Given the description of an element on the screen output the (x, y) to click on. 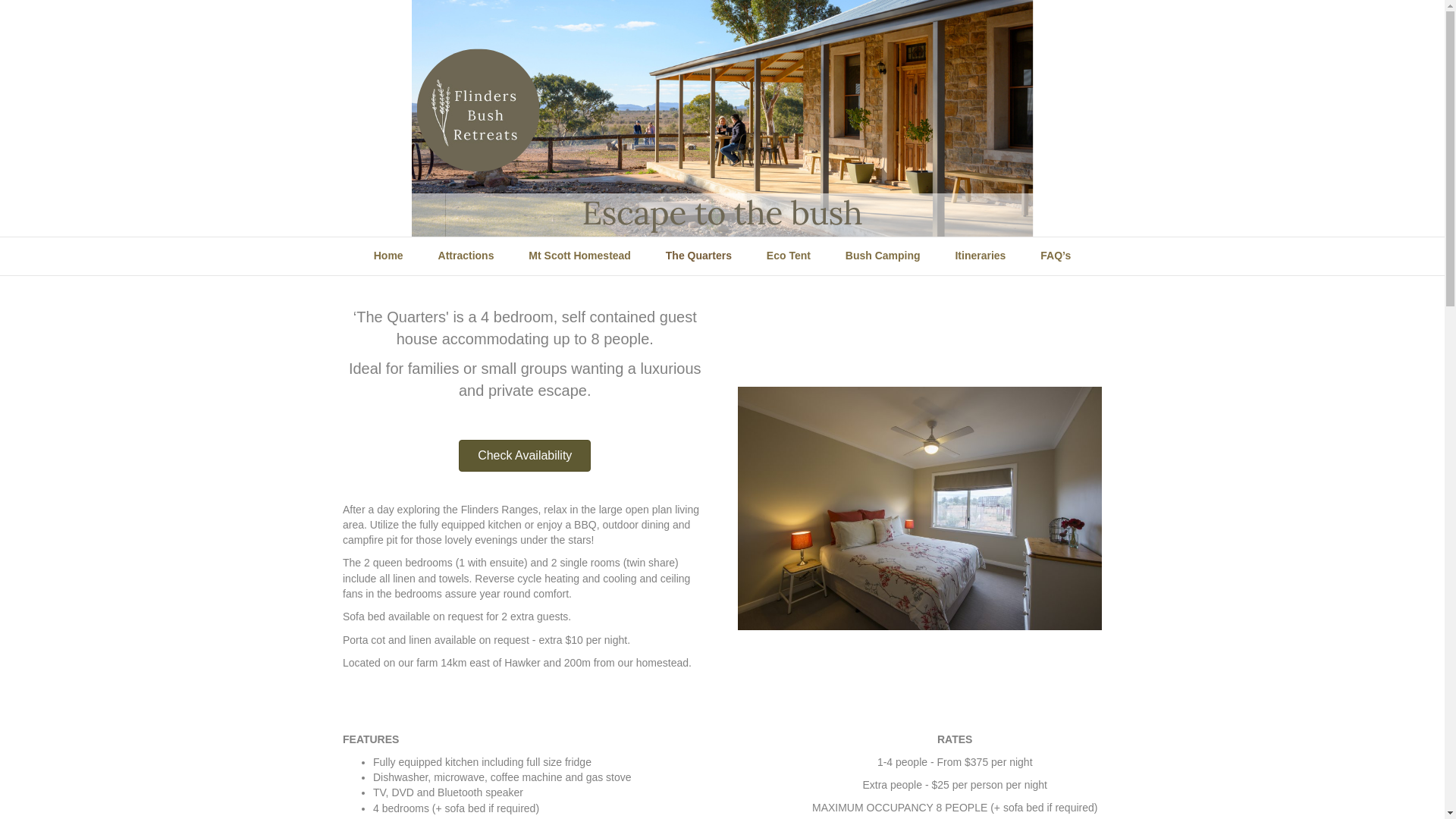
Check Availability Element type: text (524, 455)
Home Element type: text (388, 256)
Bush Camping Element type: text (882, 256)
Itineraries Element type: text (979, 256)
Mt Scott Homestead Element type: text (579, 256)
Attractions Element type: text (466, 256)
The Quarters Element type: text (698, 256)
Eco Tent Element type: text (788, 256)
